Given the description of an element on the screen output the (x, y) to click on. 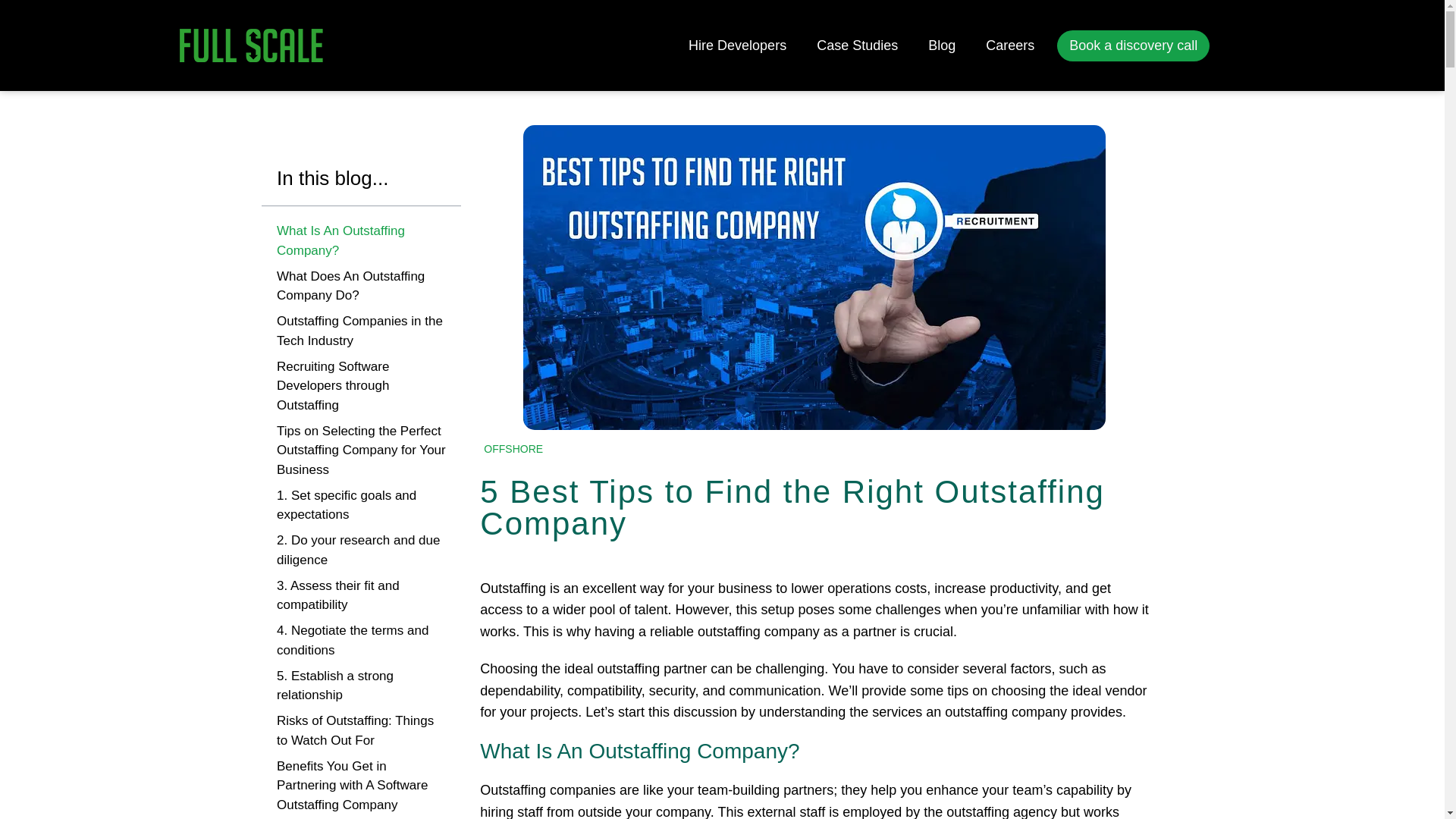
What Is An Outstaffing Company? (360, 240)
Recruiting Software Developers through Outstaffing (360, 386)
What Does An Outstaffing Company Do? (360, 285)
Outstaffing Companies in the Tech Industry (360, 331)
Book a discovery call (1133, 45)
Risks of Outstaffing: Things to Watch Out For (360, 730)
Case Studies (857, 45)
2. Do your research and due diligence (360, 549)
Blog (941, 45)
3. Assess their fit and compatibility (360, 595)
Hire Developers (737, 45)
Careers (1010, 45)
1. Set specific goals and expectations (360, 505)
